Given the description of an element on the screen output the (x, y) to click on. 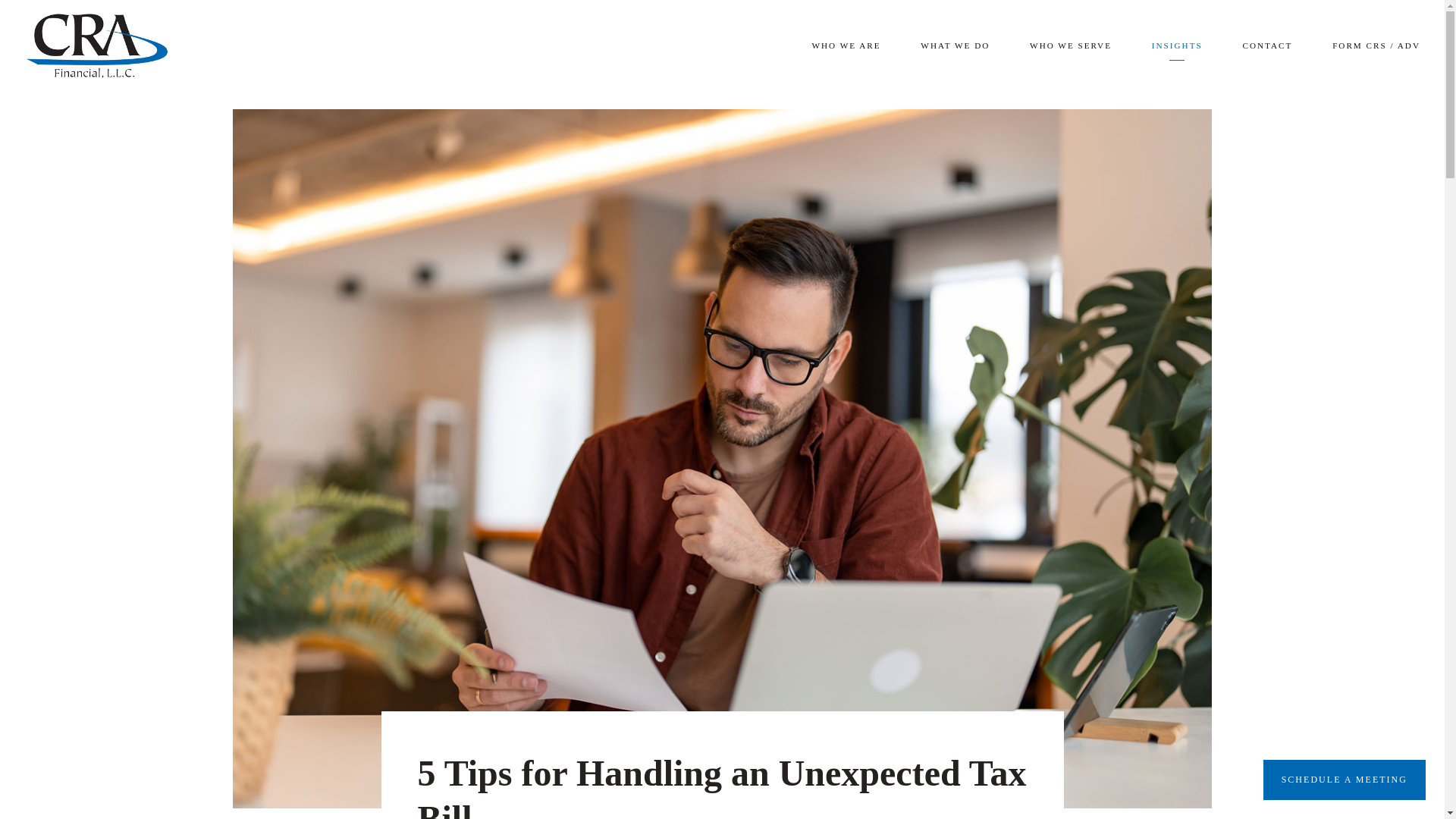
WHAT WE DO (955, 45)
WHO WE ARE (845, 45)
SCHEDULE A MEETING (1344, 780)
WHO WE SERVE (1070, 45)
INSIGHTS (1176, 45)
CONTACT (1266, 45)
